Given the description of an element on the screen output the (x, y) to click on. 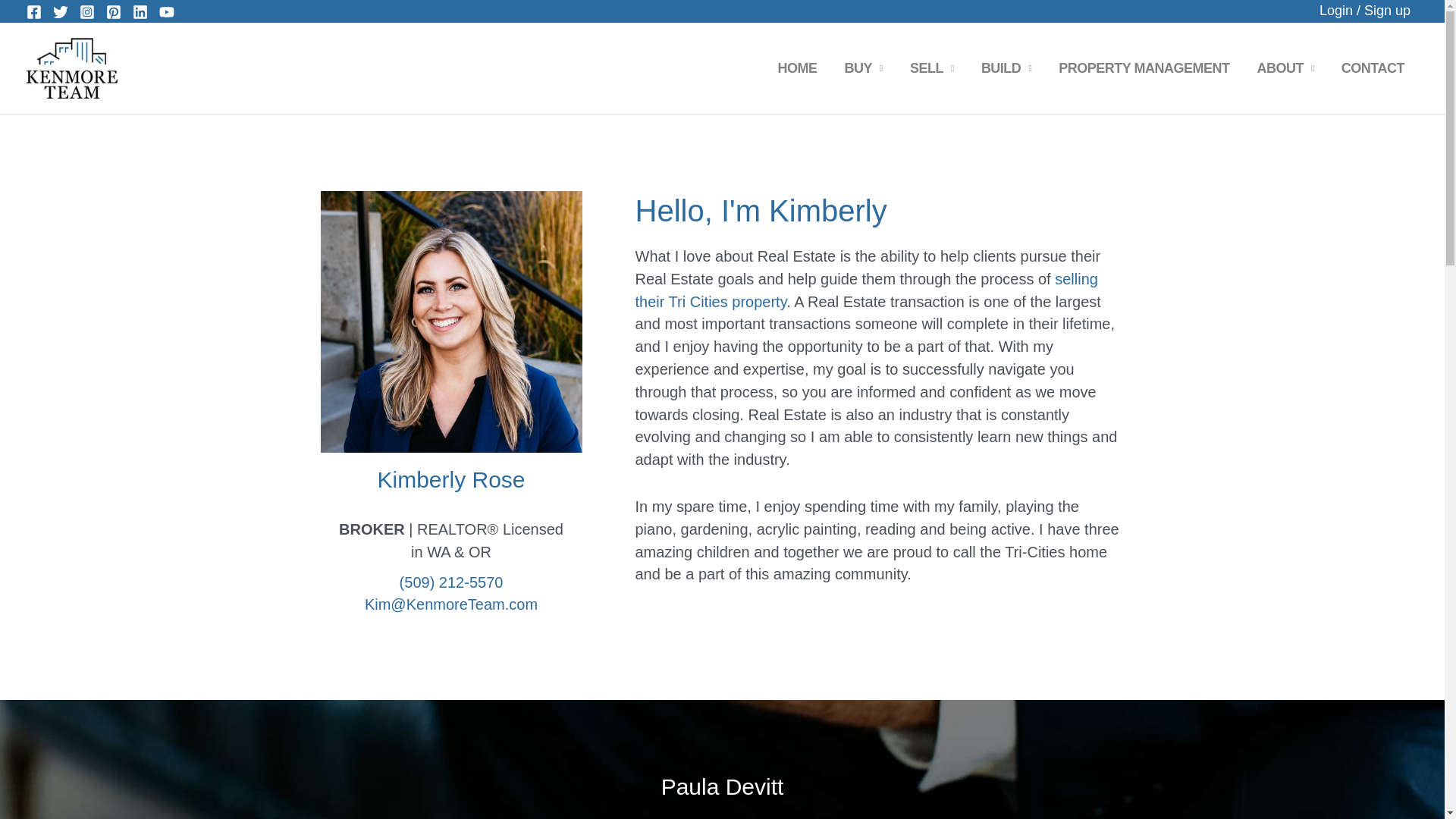
ABOUT (1284, 67)
Kimberly Rose (450, 321)
HOME (797, 67)
SELL (932, 67)
PROPERTY MANAGEMENT (1144, 67)
Sign up (1387, 10)
BUILD (1006, 67)
BUY (863, 67)
Login (1335, 10)
